Given the description of an element on the screen output the (x, y) to click on. 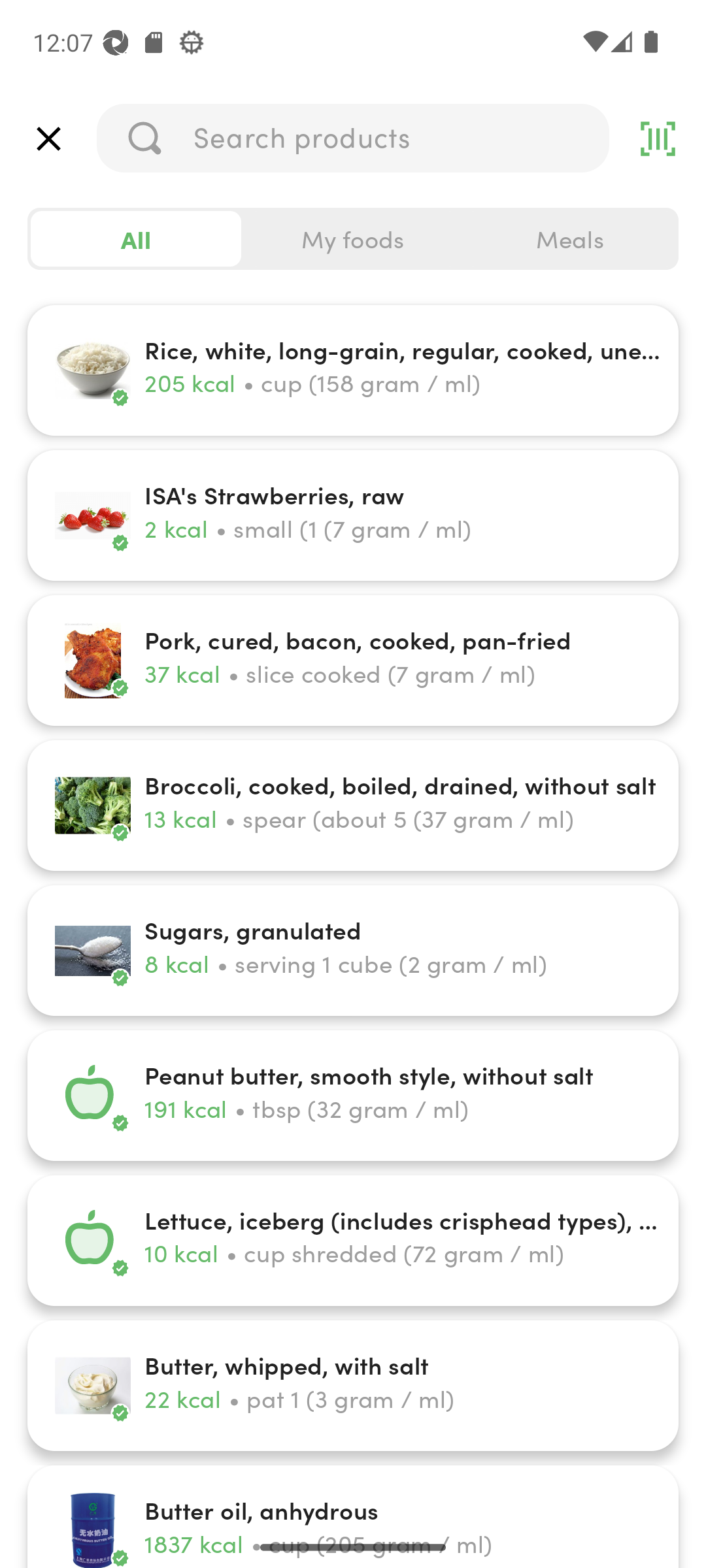
top_left_action (48, 138)
top_right_action (658, 138)
My foods (352, 238)
Meals (569, 238)
